Given the description of an element on the screen output the (x, y) to click on. 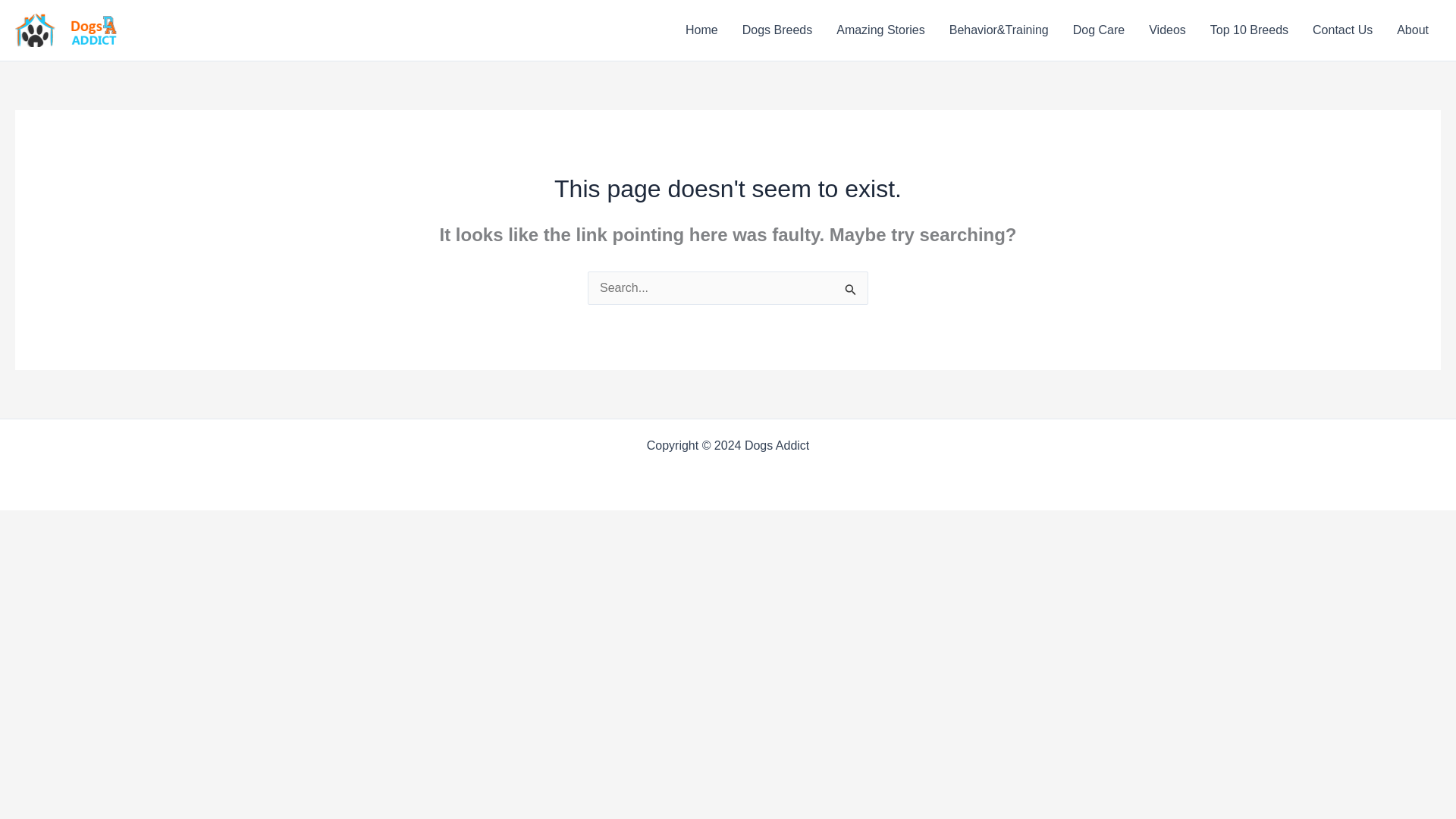
Amazing Stories (880, 30)
Search (850, 292)
Contact Us (1342, 30)
Search (850, 292)
Videos (1167, 30)
Top 10 Breeds (1249, 30)
Dogs Breeds (777, 30)
Home (701, 30)
Dog Care (1099, 30)
About (1412, 30)
Search (850, 292)
